Given the description of an element on the screen output the (x, y) to click on. 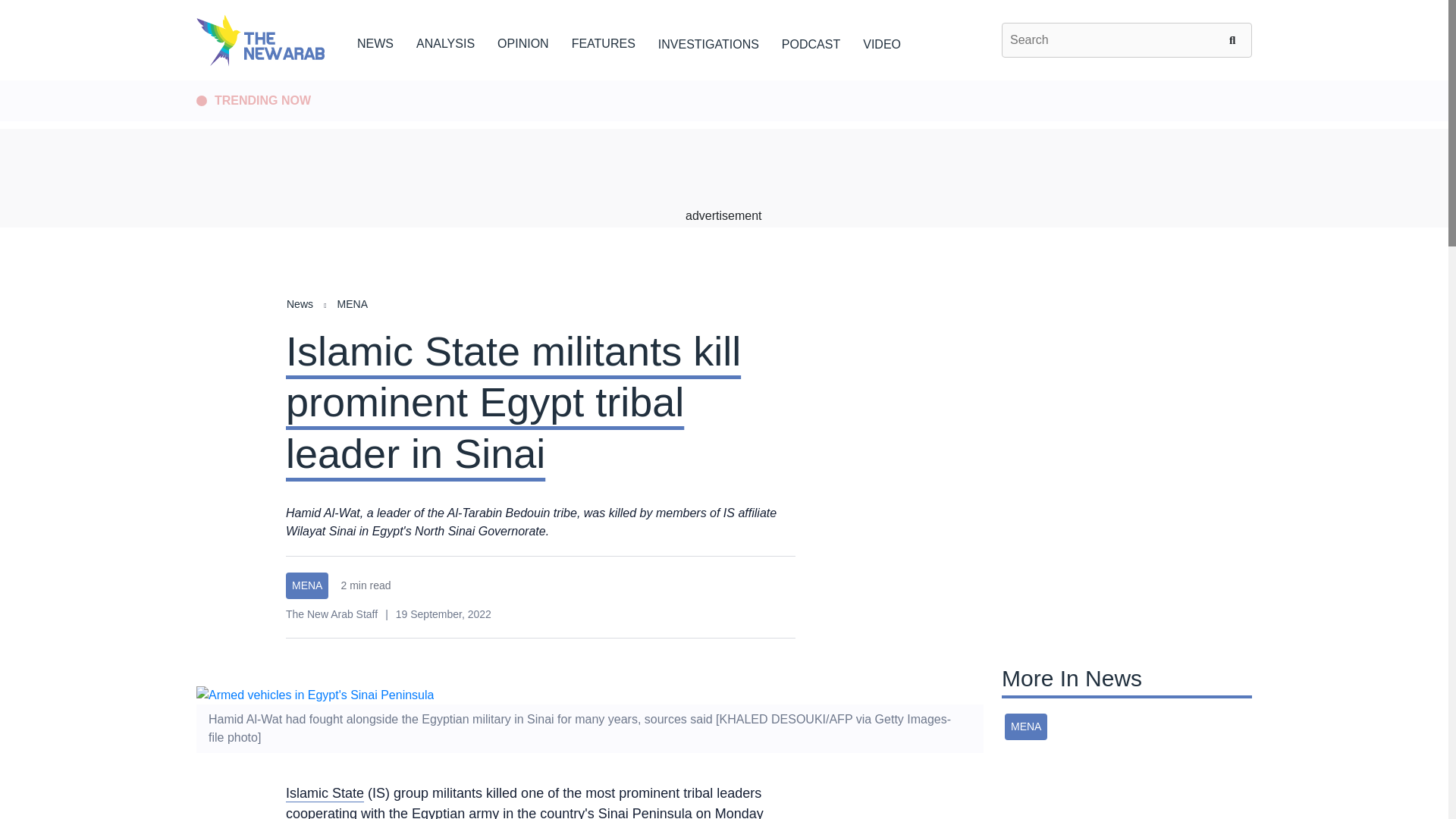
NEWS (375, 41)
OPINION (523, 41)
ANALYSIS (445, 41)
Skip to main content (724, 81)
Search (1234, 39)
